Given the description of an element on the screen output the (x, y) to click on. 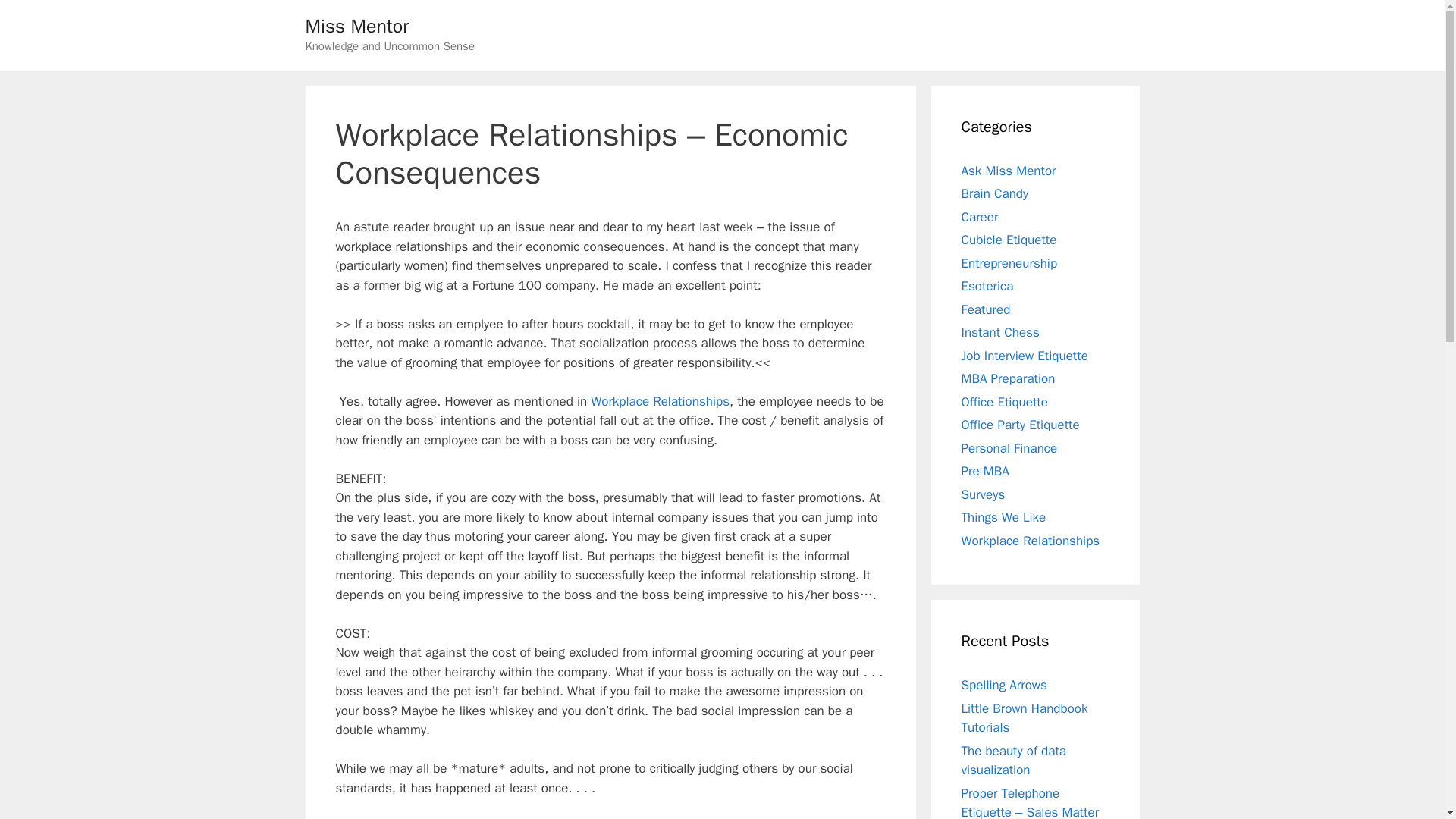
MBA Preparation (1007, 378)
Spelling Arrows (1003, 684)
Job Interview Etiquette (1023, 355)
Office Etiquette (1004, 401)
Cubicle Etiquette (1008, 239)
Office Party Etiquette (1020, 424)
Ask Miss Mentor (1008, 170)
Entrepreneurship (1009, 262)
Brain Candy (994, 193)
The beauty of data visualization (1013, 760)
